Given the description of an element on the screen output the (x, y) to click on. 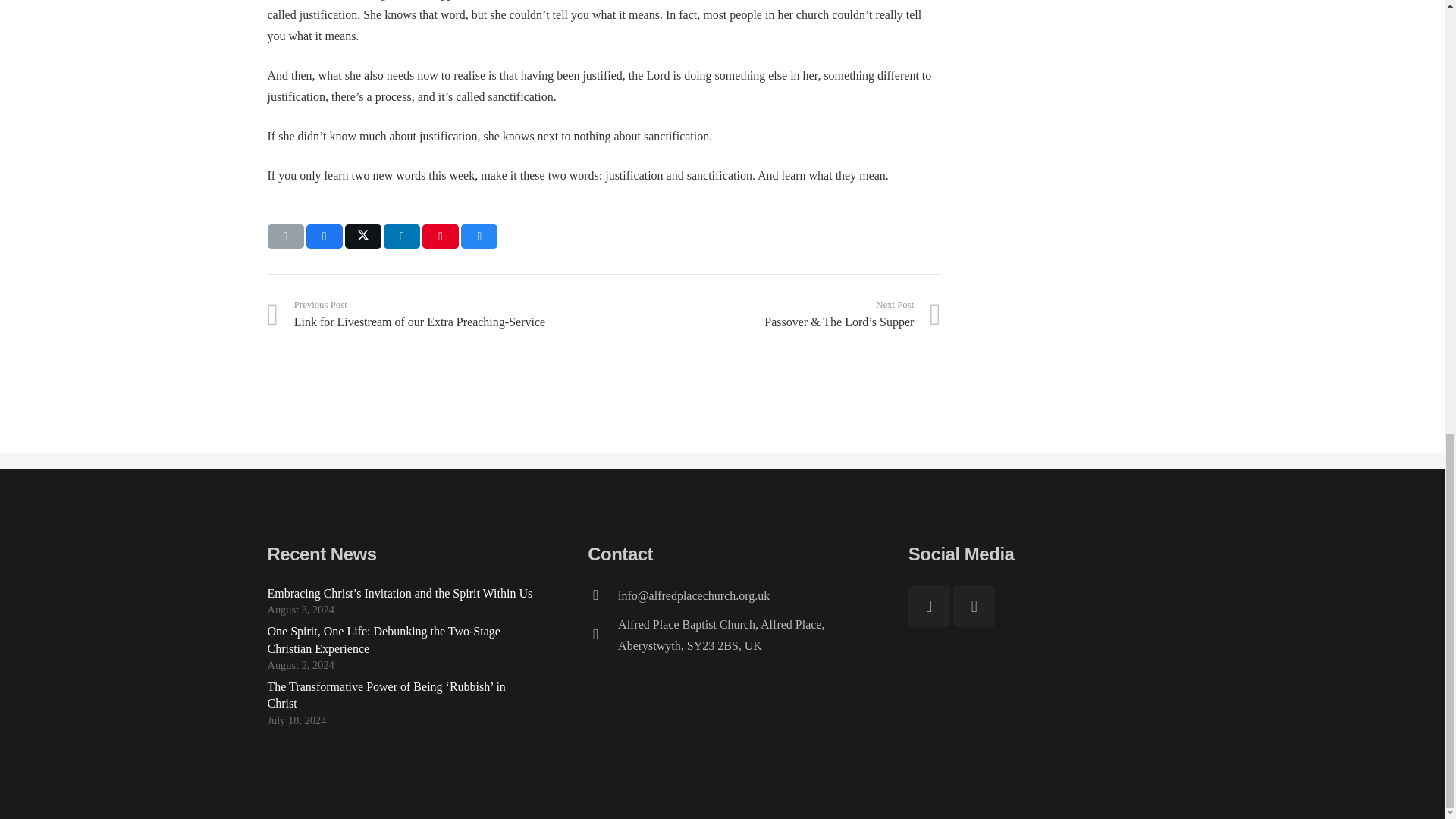
Link for Livestream of our Extra Preaching-Service (435, 314)
Share this (323, 236)
Pin this (440, 236)
Share this (479, 236)
Tweet this (363, 236)
Share this (402, 236)
Email this (284, 236)
